Given the description of an element on the screen output the (x, y) to click on. 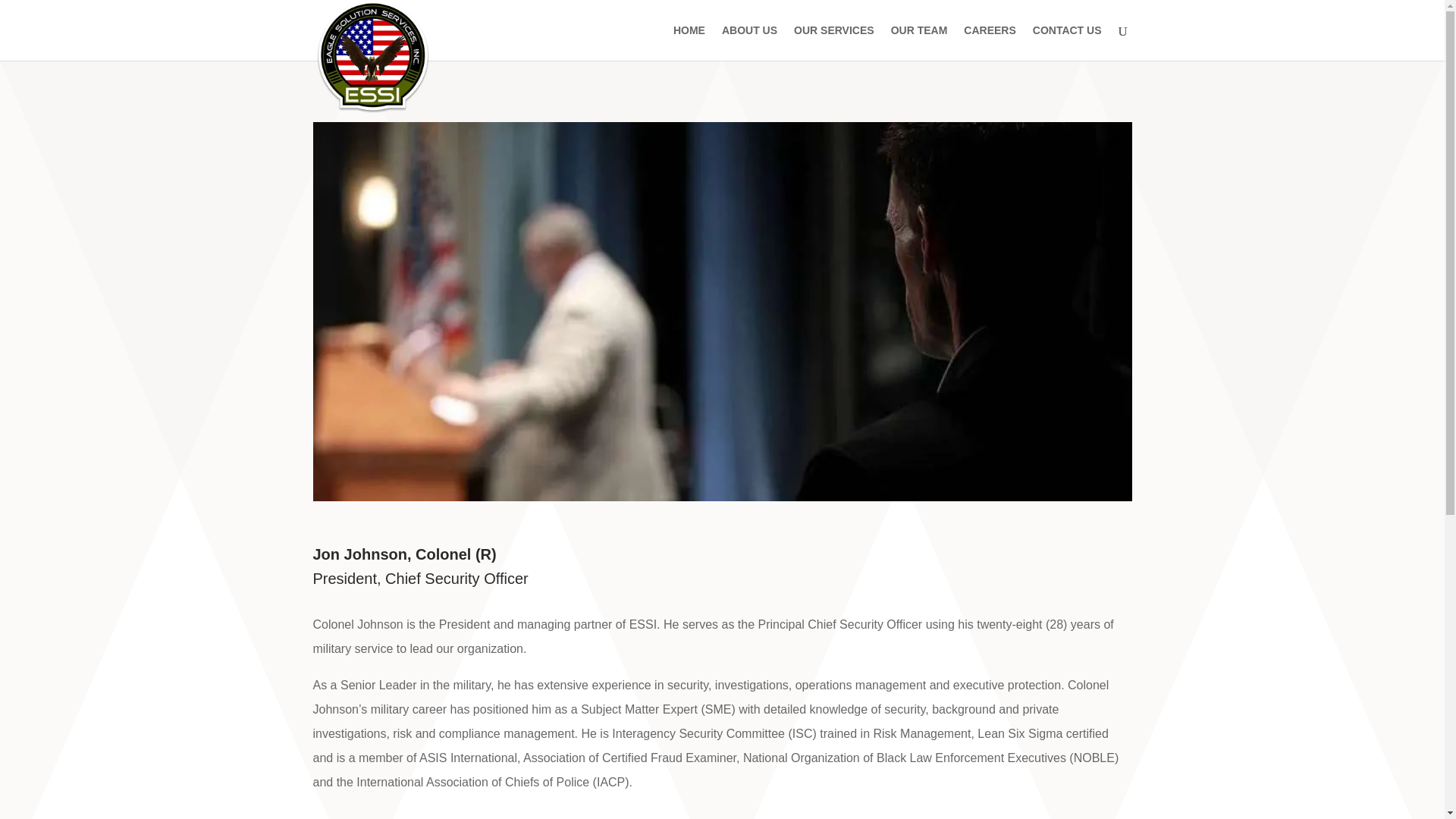
HOME (688, 42)
ABOUT US (749, 42)
CAREERS (988, 42)
OUR TEAM (919, 42)
OUR SERVICES (834, 42)
CONTACT US (1067, 42)
